Given the description of an element on the screen output the (x, y) to click on. 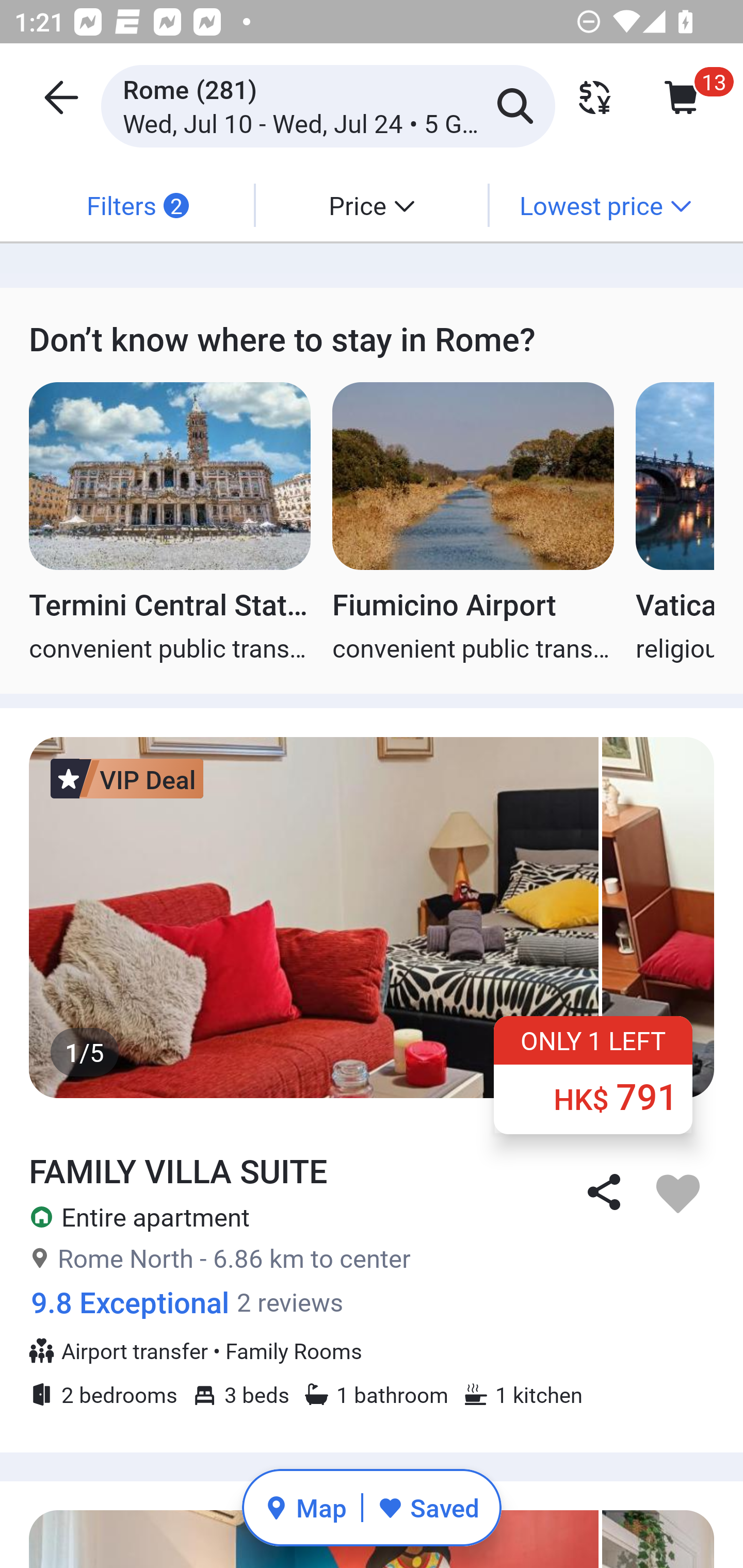
Rome (281) Wed, Jul 10 - Wed, Jul 24 • 5 Guests (327, 105)
Filters 2 (137, 205)
Price (371, 205)
Lowest price (605, 205)
Fiumicino Airport convenient public transportation (472, 523)
VIP Deal (126, 778)
1/5 (371, 916)
ONLY 1 LEFT ‪HK$ 791 (593, 1074)
Map (305, 1507)
Saved (428, 1507)
